Given the description of an element on the screen output the (x, y) to click on. 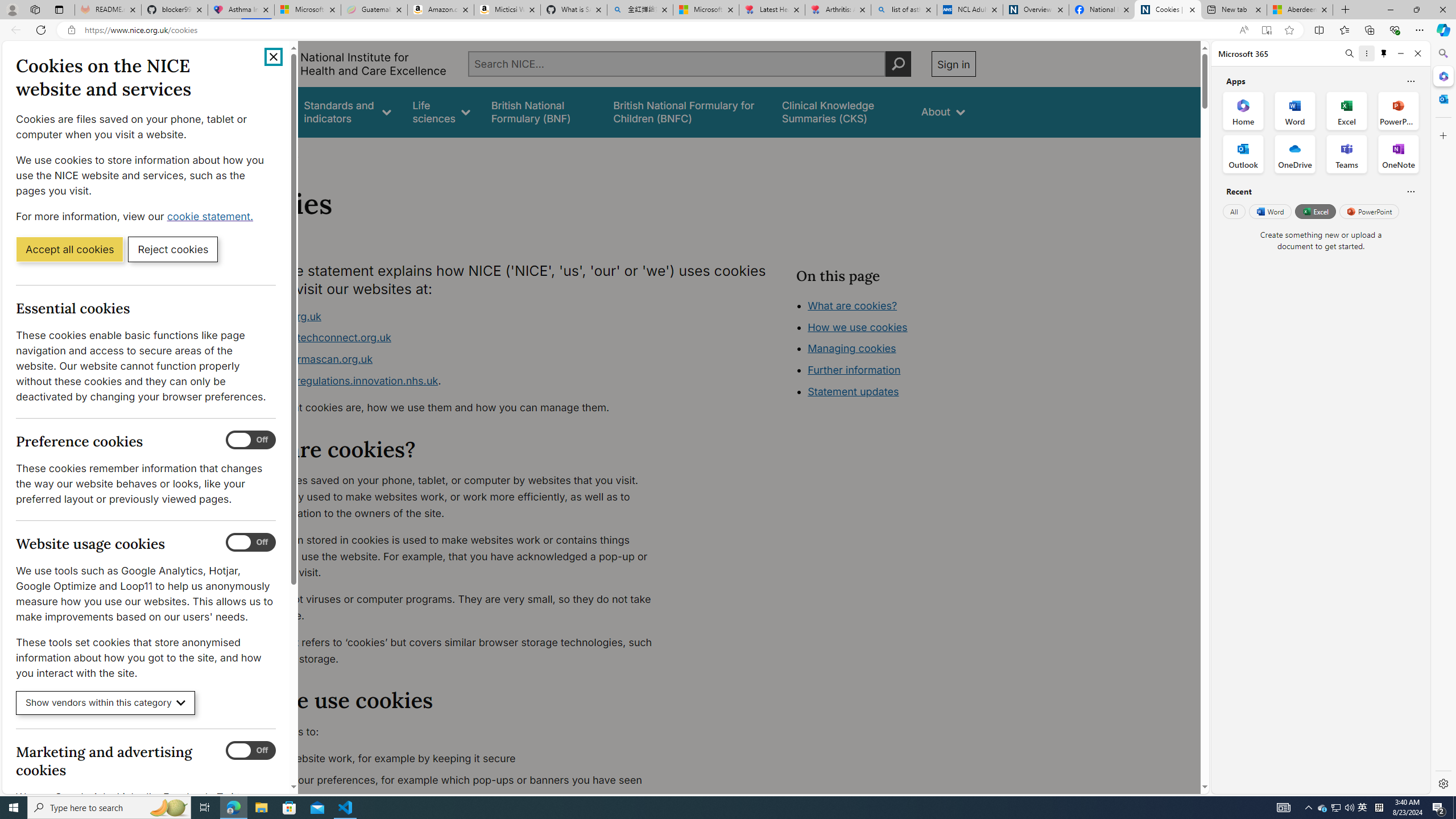
Guidance (260, 111)
Guidance (260, 111)
How we use cookies (896, 389)
Home> (246, 152)
false (841, 111)
